Given the description of an element on the screen output the (x, y) to click on. 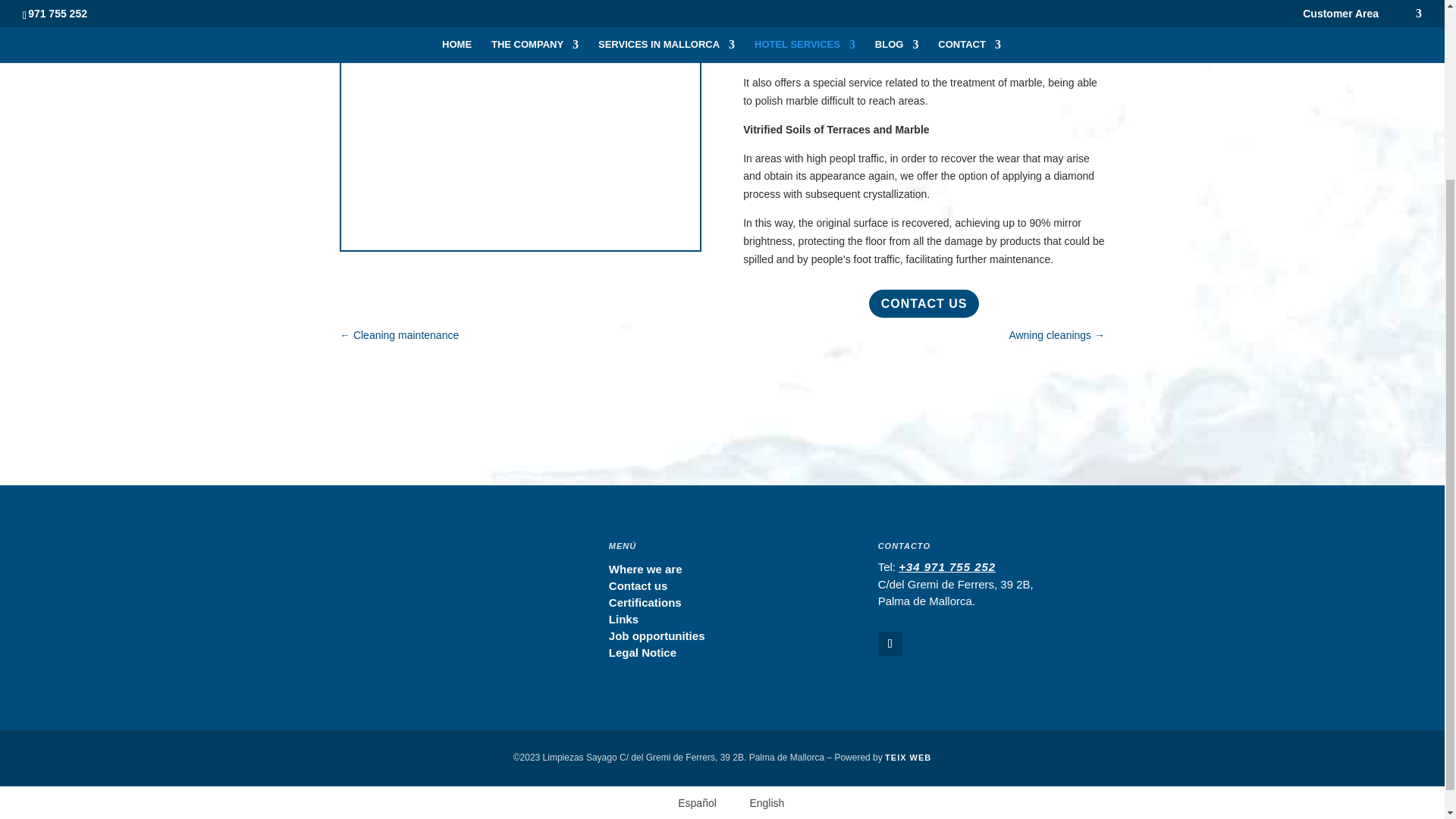
LIMPIEZAS-SAYAGO-VITRIFICADO DE SUELOS-3 (520, 246)
Follow on Facebook (889, 643)
LOGO-EMPRESA.png (419, 568)
